Given the description of an element on the screen output the (x, y) to click on. 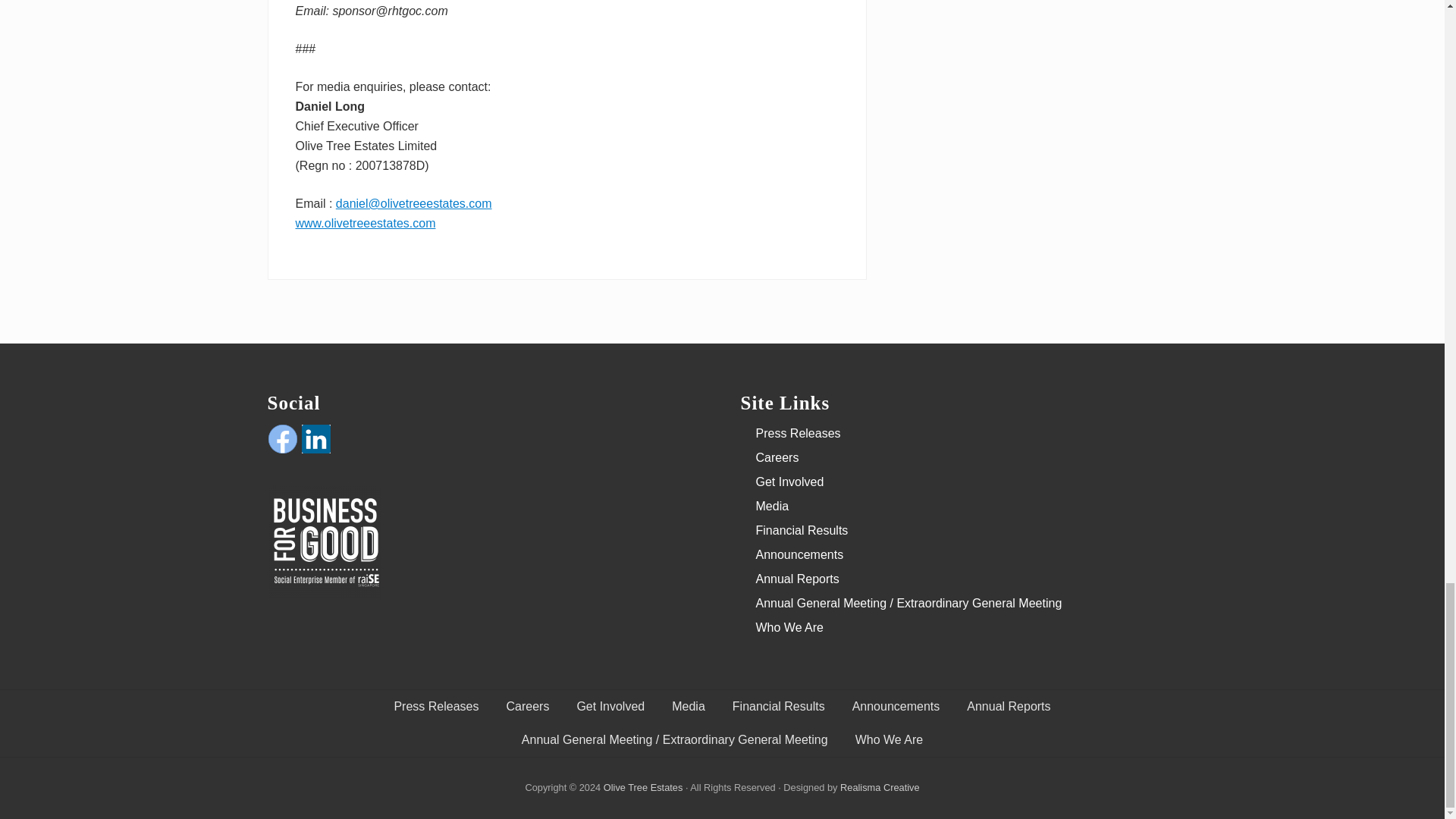
Olive Tree Estates (643, 787)
